Given the description of an element on the screen output the (x, y) to click on. 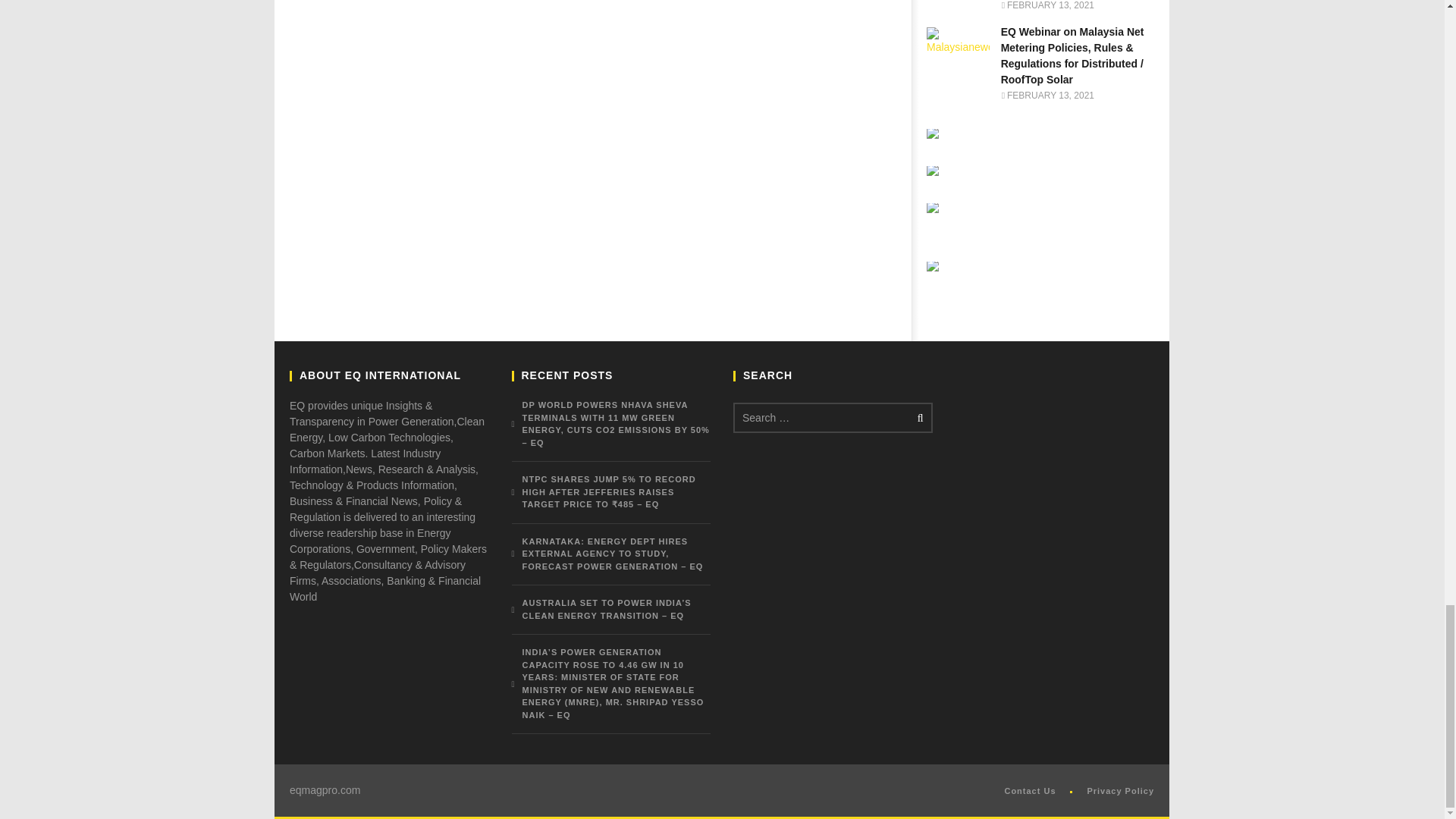
Search (917, 417)
Search (917, 417)
